Given the description of an element on the screen output the (x, y) to click on. 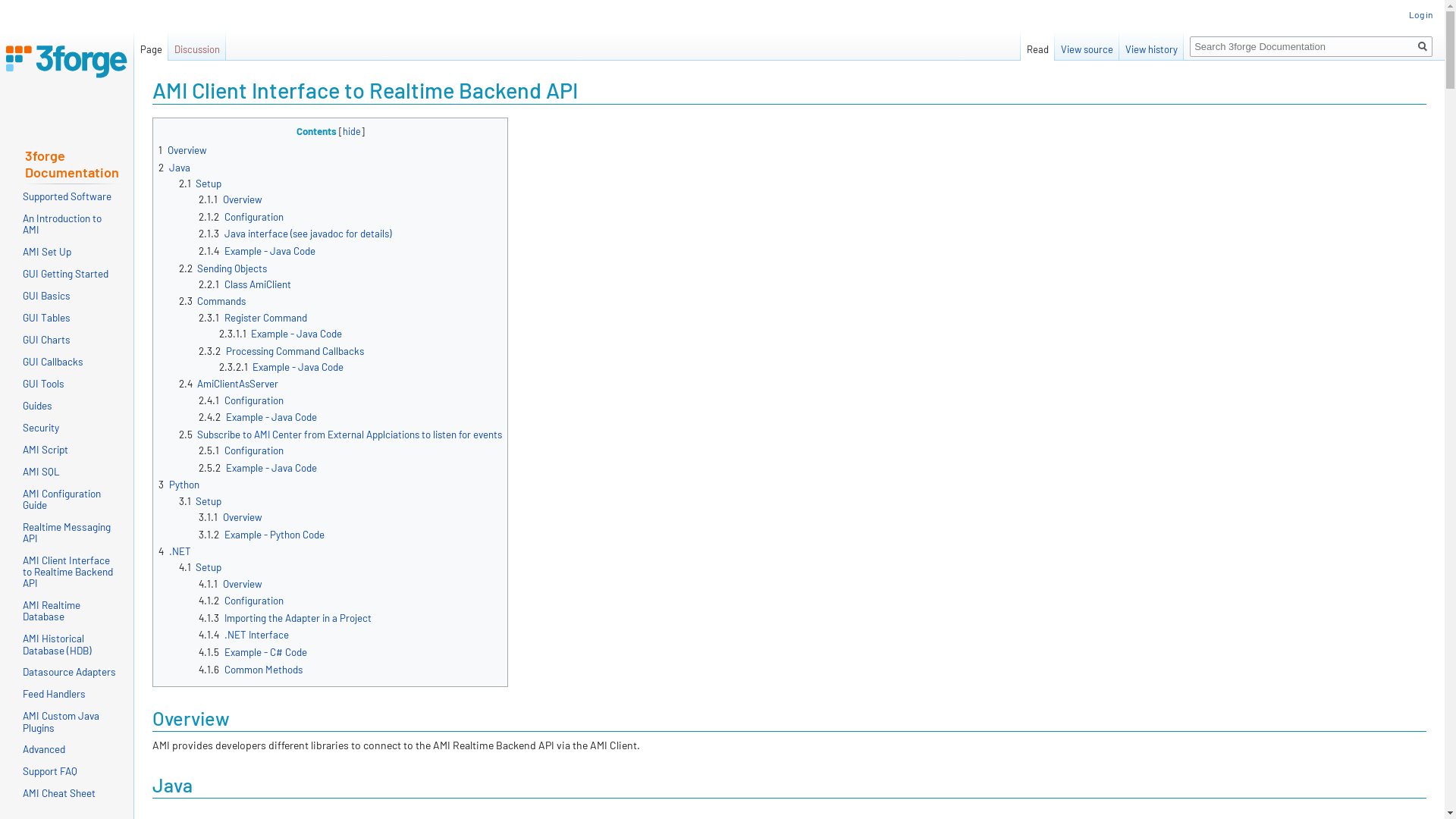
AMI SQL Element type: text (40, 470)
GUI Charts Element type: text (46, 338)
Support FAQ Element type: text (49, 770)
Search 3forge Documentation [alt-shift-f] Element type: hover (1310, 46)
2.3.2.1 Example - Java Code Element type: text (281, 366)
Supported Software Element type: text (66, 195)
Jump to navigation Element type: text (151, 116)
Guides Element type: text (37, 404)
2.3.1 Register Command Element type: text (252, 317)
AMI Set Up Element type: text (46, 250)
2.3 Commands Element type: text (212, 300)
AMI Custom Java Plugins Element type: text (60, 721)
3 Python Element type: text (178, 484)
Security Element type: text (40, 426)
3.1 Setup Element type: text (200, 501)
2.5.2 Example - Java Code Element type: text (257, 467)
4 .NET Element type: text (174, 551)
2.1.1 Overview Element type: text (230, 199)
3.1.1 Overview Element type: text (230, 517)
An Introduction to AMI Element type: text (61, 223)
2.4 AmiClientAsServer Element type: text (228, 383)
3.1.2 Example - Python Code Element type: text (261, 533)
2 Java Element type: text (174, 167)
AMI Configuration Guide Element type: text (61, 498)
GUI Basics Element type: text (46, 294)
AMI Client Interface to Realtime Backend API Element type: text (67, 571)
1 Overview Element type: text (182, 150)
2.1.2 Configuration Element type: text (240, 216)
Search Element type: text (1422, 46)
Log in Element type: text (1420, 14)
2.3.1.1 Example - Java Code Element type: text (280, 333)
Datasource Adapters Element type: text (69, 671)
4.1.6 Common Methods Element type: text (250, 669)
Page Element type: text (151, 45)
View history Element type: text (1151, 45)
Search the pages for this text Element type: hover (1422, 46)
AMI Cheat Sheet Element type: text (58, 792)
2.1.3 Java interface (see javadoc for details) Element type: text (294, 233)
GUI Callbacks Element type: text (52, 360)
Realtime Messaging API Element type: text (66, 532)
2.4.2 Example - Java Code Element type: text (257, 417)
4.1 Setup Element type: text (200, 567)
Read Element type: text (1037, 45)
GUI Tables Element type: text (46, 316)
Visit the main page Element type: hover (66, 60)
2.4.1 Configuration Element type: text (240, 400)
Feed Handlers Element type: text (53, 693)
4.1.3 Importing the Adapter in a Project Element type: text (284, 617)
2.1.4 Example - Java Code Element type: text (256, 250)
Discussion Element type: text (196, 45)
2.2 Sending Objects Element type: text (222, 268)
4.1.2 Configuration Element type: text (240, 600)
4.1.5 Example - C# Code Element type: text (252, 652)
GUI Getting Started Element type: text (65, 272)
GUI Tools Element type: text (43, 382)
2.1 Setup Element type: text (200, 183)
2.2.1 Class AmiClient Element type: text (244, 284)
View source Element type: text (1086, 45)
AMI Realtime Database Element type: text (51, 610)
2.3.2 Processing Command Callbacks Element type: text (281, 351)
4.1.1 Overview Element type: text (230, 583)
AMI Historical Database (HDB) Element type: text (56, 643)
AMI Script Element type: text (45, 448)
4.1.4 .NET Interface Element type: text (243, 634)
2.5.1 Configuration Element type: text (240, 450)
Advanced Element type: text (43, 748)
